Given the description of an element on the screen output the (x, y) to click on. 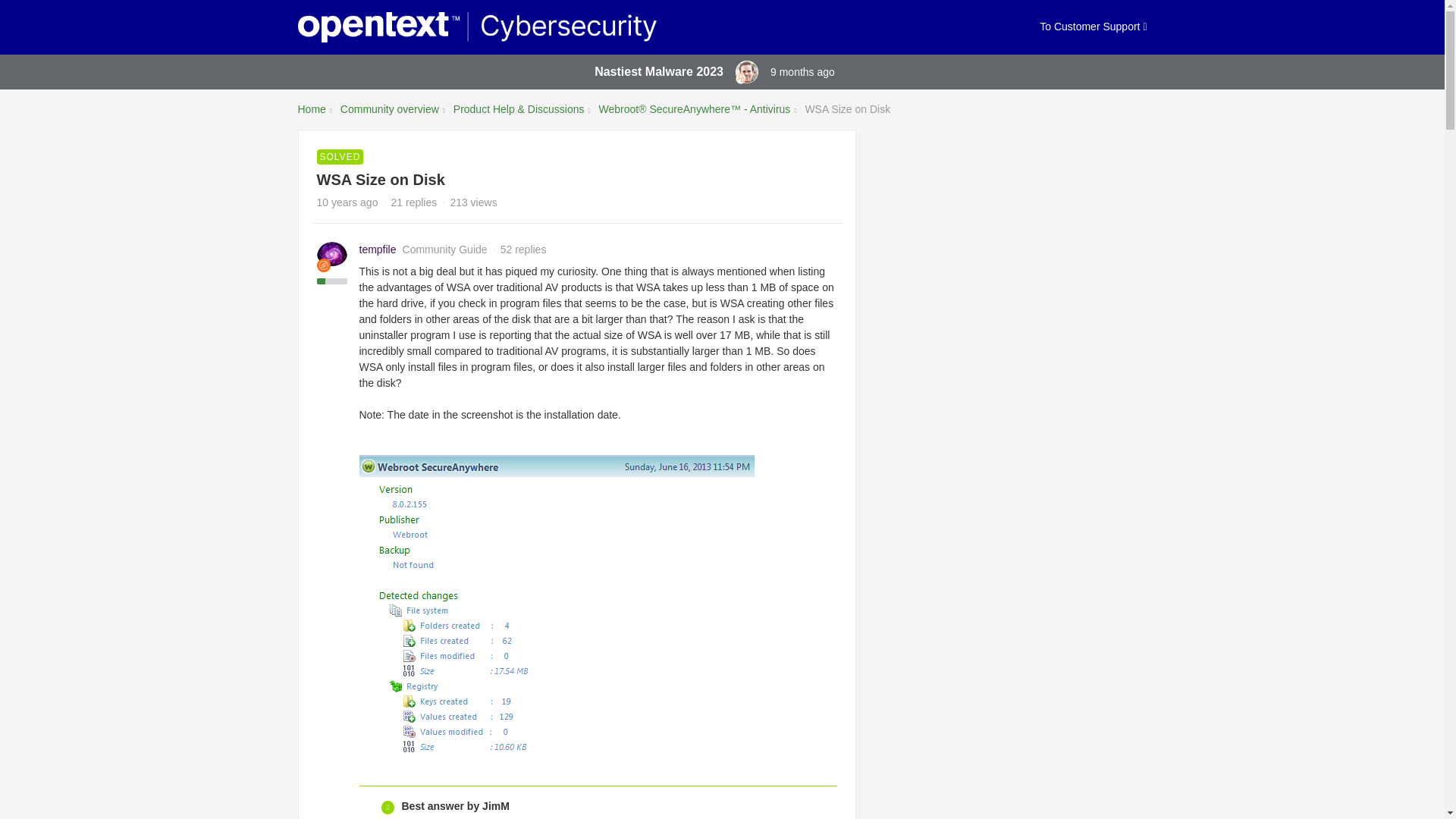
To Customer Support (1093, 26)
tempfile (377, 249)
21 replies (414, 202)
Administrator (740, 78)
Home (310, 109)
tempfile (377, 249)
Community overview (389, 109)
Community Guide (323, 264)
